Given the description of an element on the screen output the (x, y) to click on. 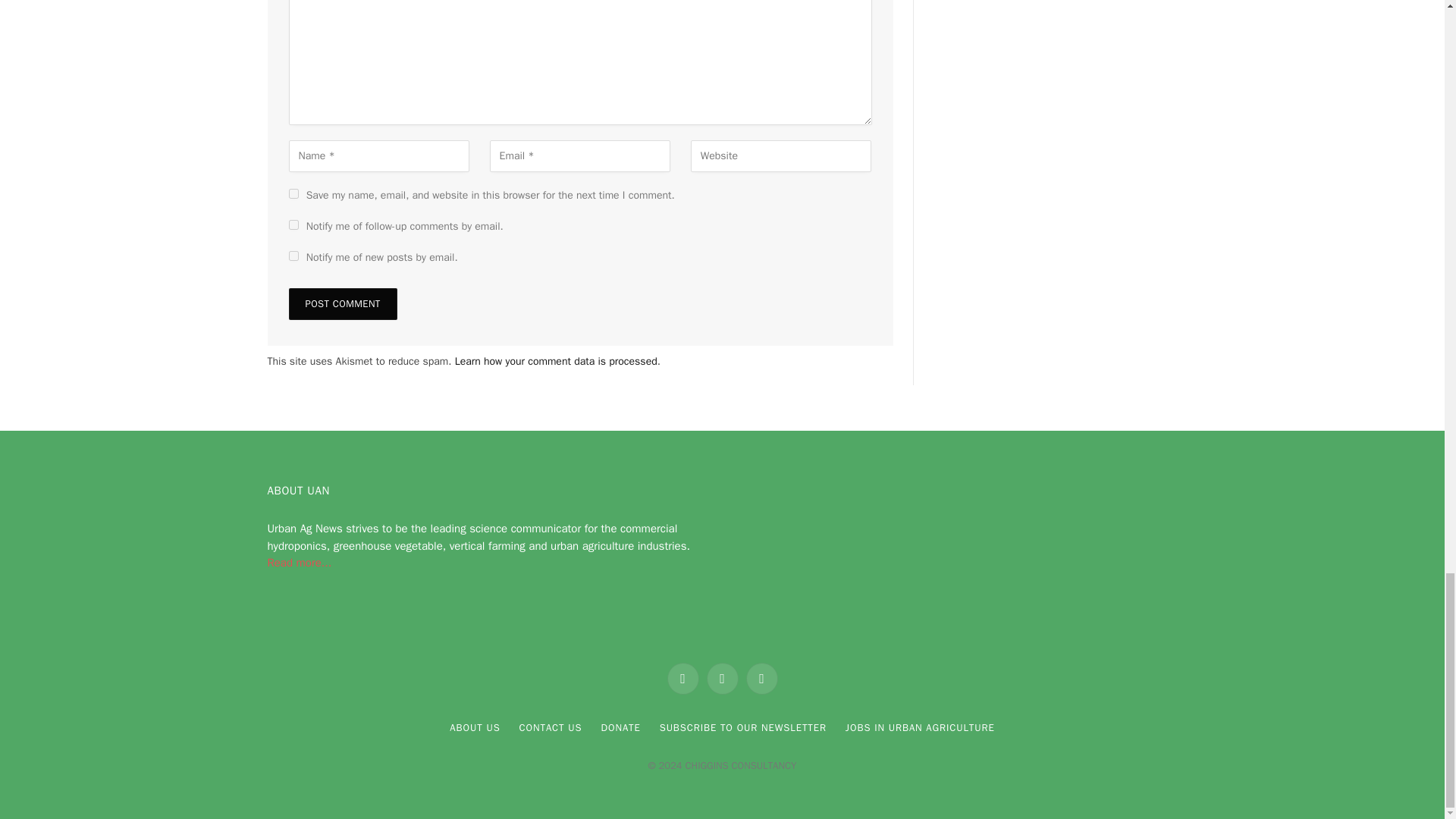
subscribe (293, 255)
Post Comment (342, 304)
yes (293, 194)
subscribe (293, 225)
